Given the description of an element on the screen output the (x, y) to click on. 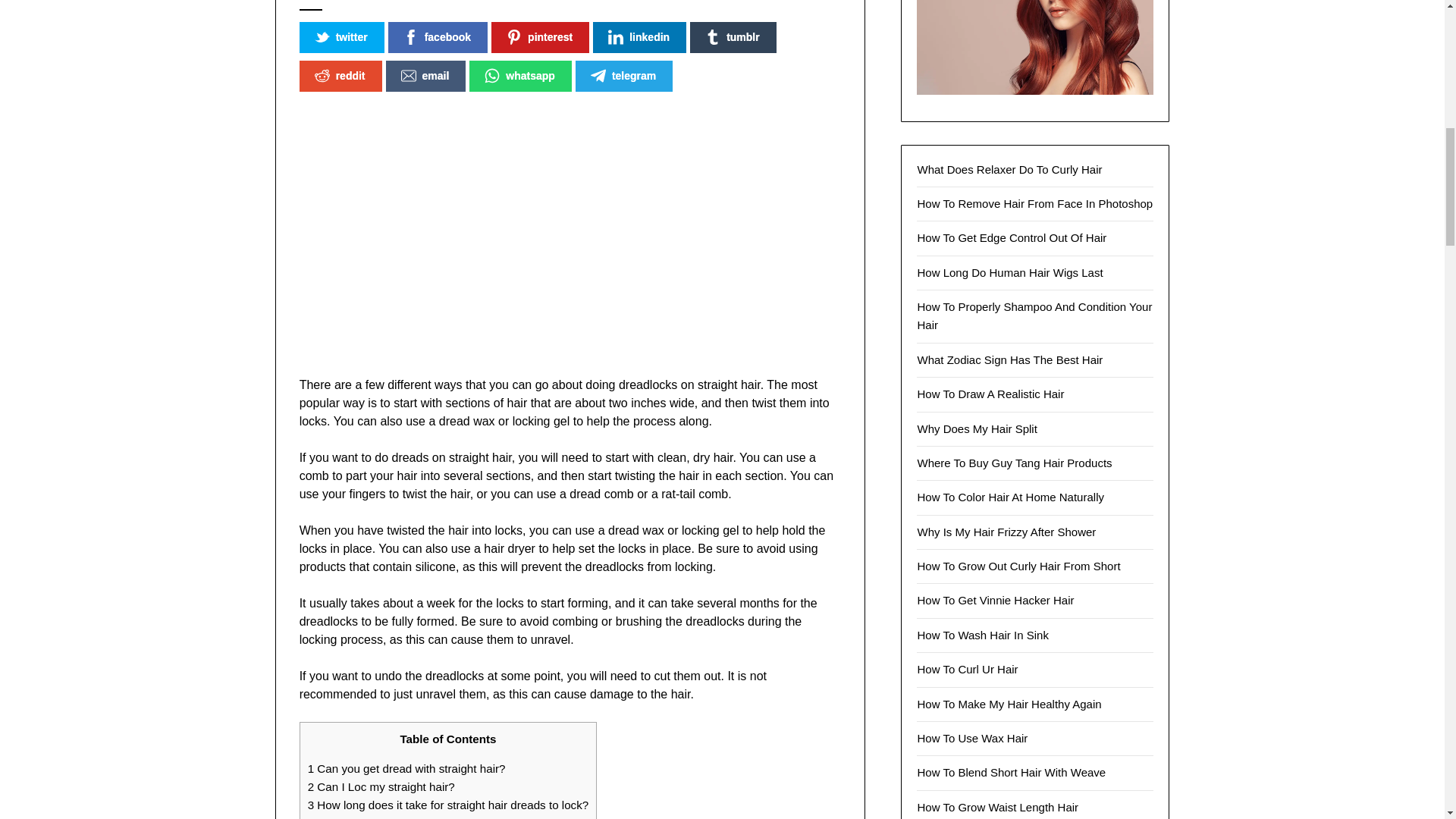
1 Can you get dread with straight hair? (406, 768)
2 Can I Loc my straight hair? (380, 786)
whatsapp (520, 75)
twitter (341, 37)
4 How do you start dreadlocks? (387, 817)
facebook (437, 37)
reddit (340, 75)
3 How long does it take for straight hair dreads to lock? (448, 804)
tumblr (733, 37)
What Does Relaxer Do To Curly Hair (1009, 169)
email (425, 75)
linkedin (638, 37)
pinterest (540, 37)
telegram (623, 75)
